Given the description of an element on the screen output the (x, y) to click on. 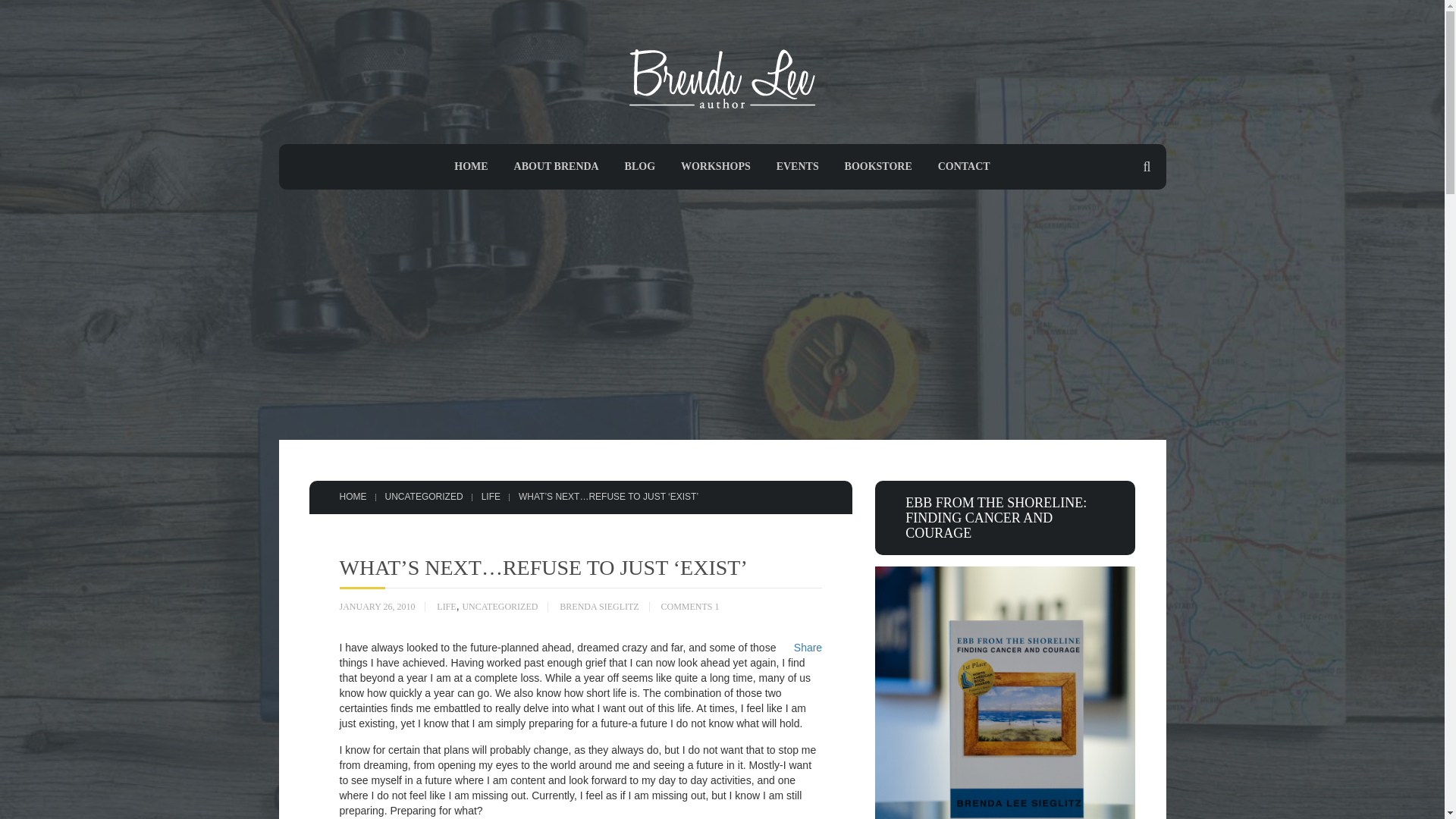
HOME (352, 496)
JANUARY 26, 2010 (376, 606)
WORKSHOPS (715, 165)
Life (490, 496)
EVENTS (796, 165)
Posts by Brenda Sieglitz (599, 606)
UNCATEGORIZED (424, 496)
LIFE (490, 496)
UNCATEGORIZED (499, 606)
Uncategorized (424, 496)
CONTACT (963, 165)
BRENDA SIEGLITZ (599, 606)
BLOG (639, 165)
LIFE (445, 606)
Share (807, 647)
